Given the description of an element on the screen output the (x, y) to click on. 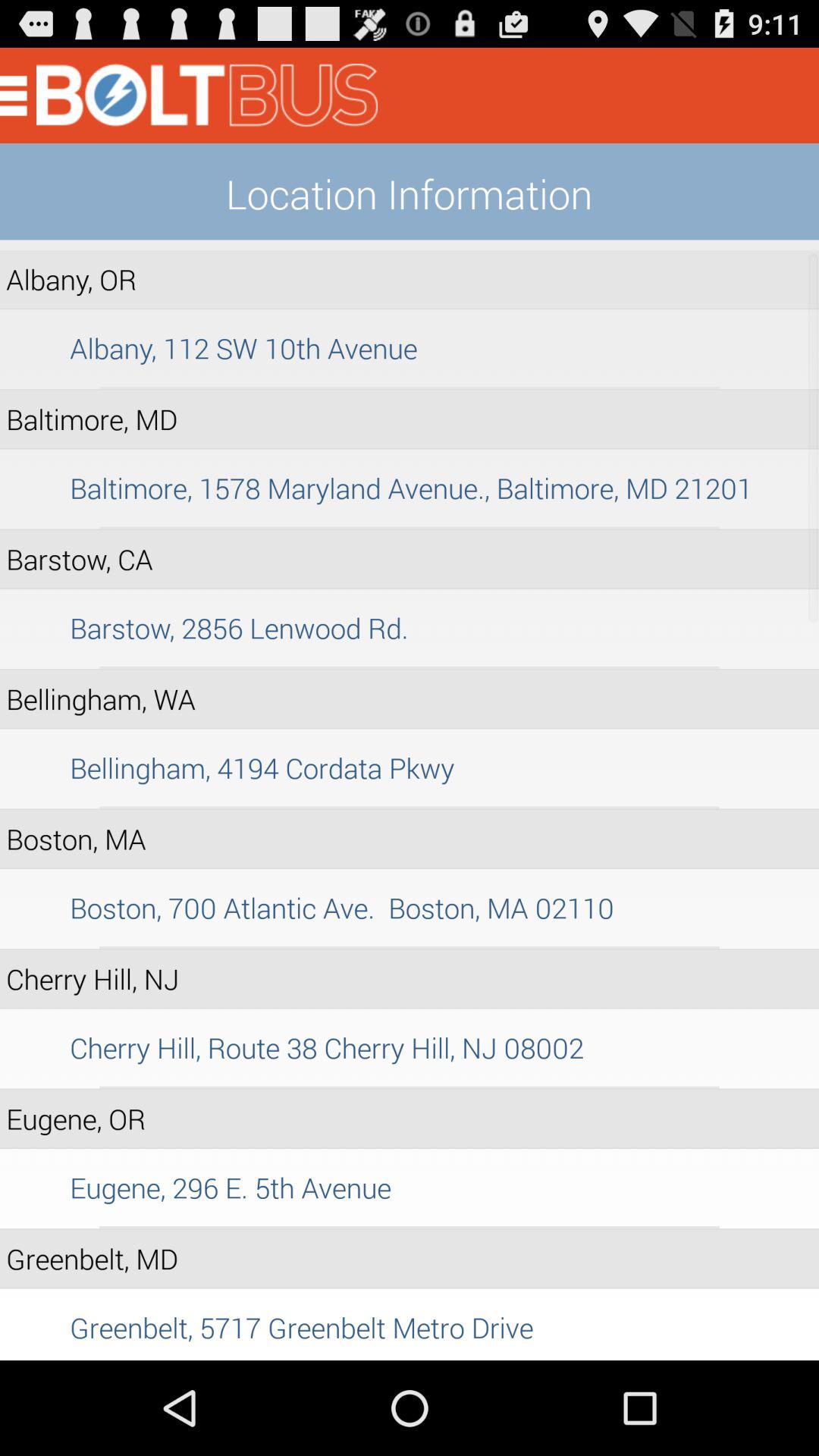
launch app above eugene, or (409, 1087)
